Given the description of an element on the screen output the (x, y) to click on. 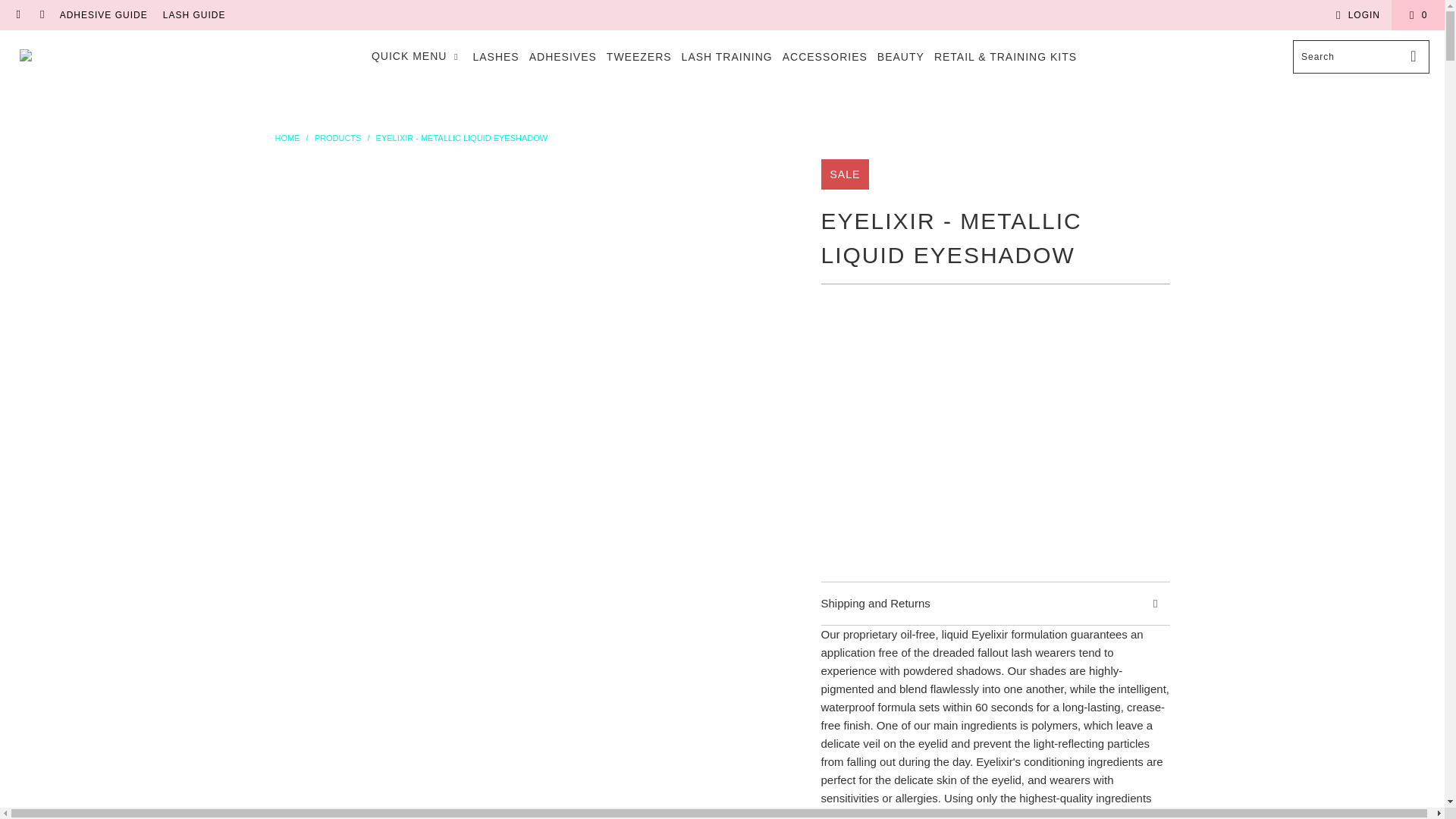
BEAUTY (900, 56)
LashBox LA UK on Instagram (41, 14)
LASH TRAINING (727, 56)
LASHES (494, 56)
Products (337, 137)
LashBox LA UK on Facebook (17, 14)
ADHESIVE GUIDE (103, 14)
LashBox LA UK (85, 56)
ADHESIVES (562, 56)
0 (1417, 15)
